Given the description of an element on the screen output the (x, y) to click on. 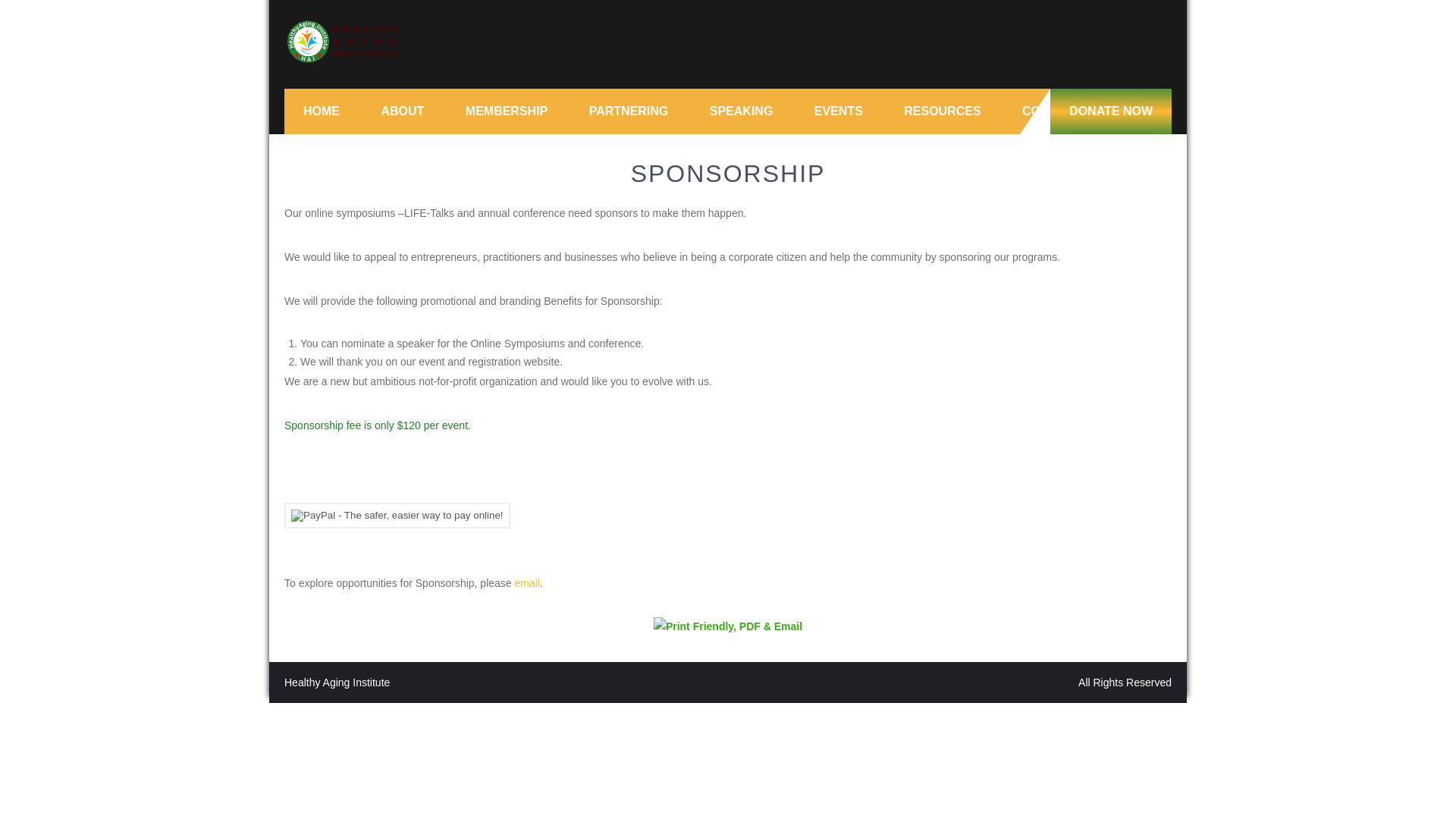
SPEAKING (741, 111)
EVENTS (838, 111)
DONATE NOW (1110, 111)
email (527, 582)
HEALTHY AGING INSTITUTE (426, 83)
MEMBERSHIP (506, 111)
ABOUT (401, 111)
HOME (320, 111)
PARTNERING (628, 111)
CONTACT (1051, 111)
RESOURCES (941, 111)
